Given the description of an element on the screen output the (x, y) to click on. 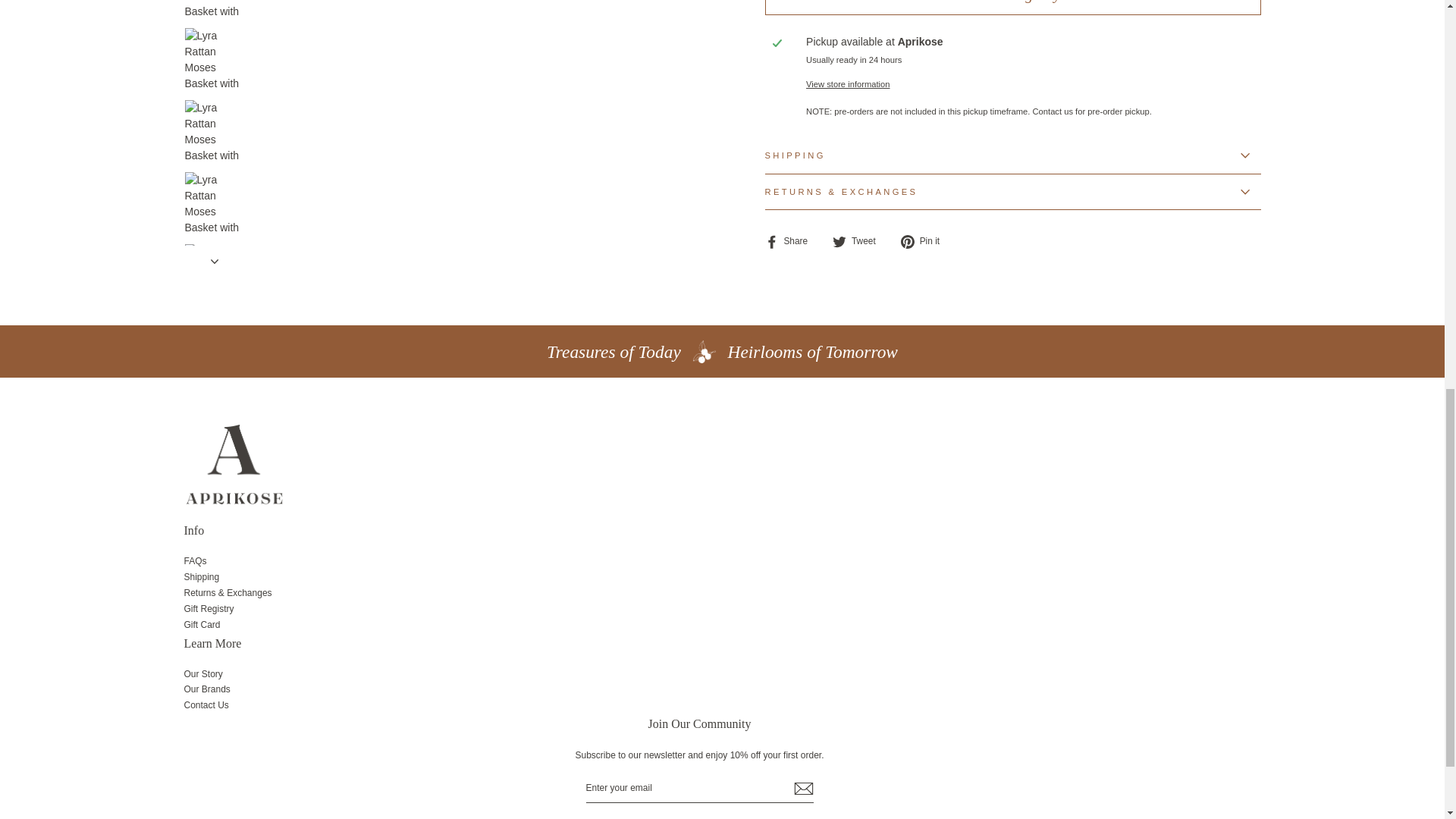
Pin on Pinterest (925, 240)
Add to Registry (1012, 7)
Tweet on Twitter (859, 240)
Share on Facebook (791, 240)
